Given the description of an element on the screen output the (x, y) to click on. 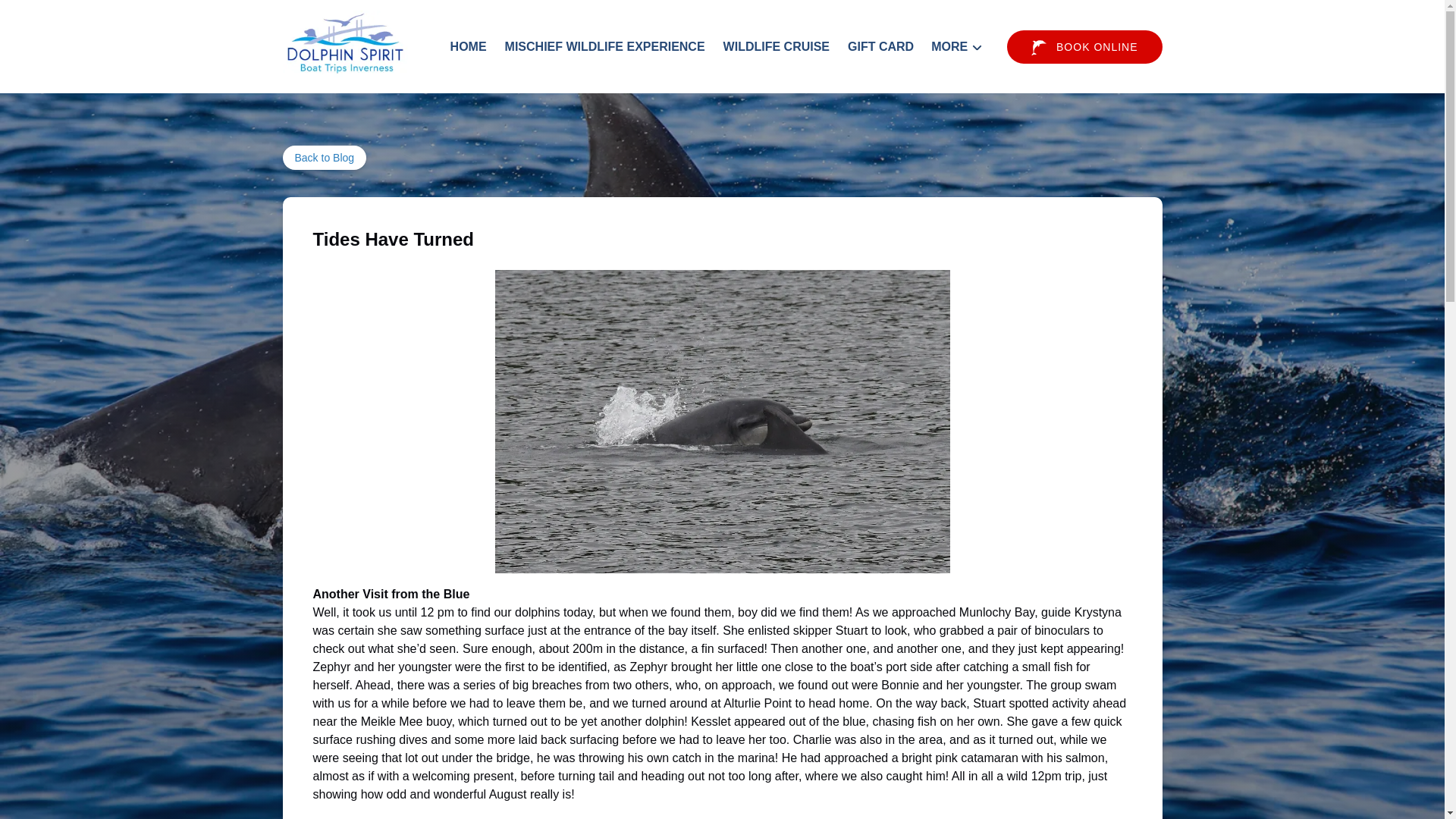
Skip to footer (42, 16)
WILDLIFE CRUISE (776, 46)
return to Blog (324, 157)
HOME (468, 46)
Back to Blog (324, 157)
GIFT CARD (880, 46)
MORE (956, 46)
Skip to primary navigation (77, 16)
Open More Menu (960, 42)
MISCHIEF WILDLIFE EXPERIENCE (605, 46)
